Given the description of an element on the screen output the (x, y) to click on. 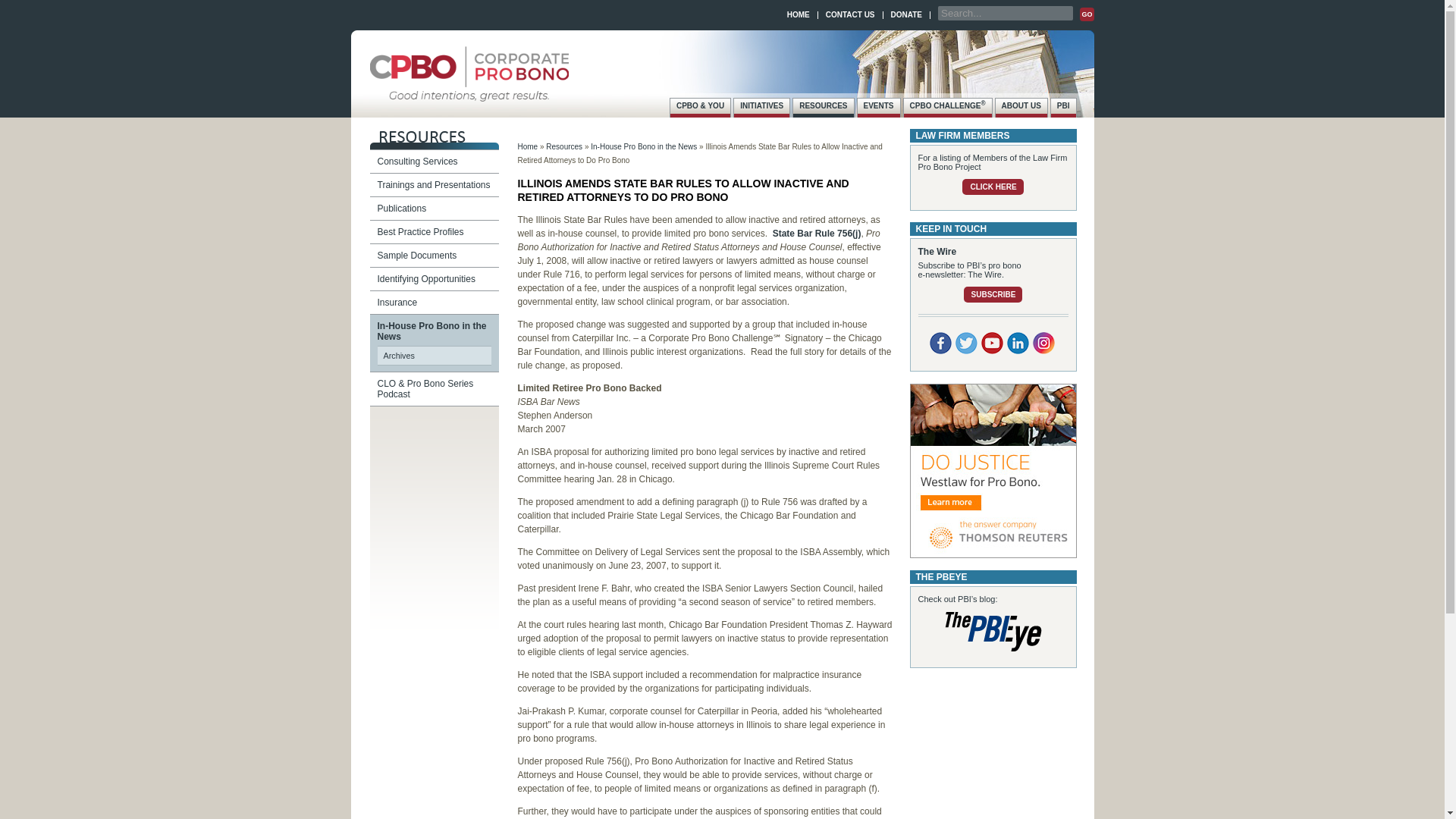
Corporate Pro Bono (469, 93)
LinkedIn (1018, 342)
INITIATIVES (761, 107)
Twitter (965, 342)
Instagram (1043, 342)
HOME (798, 14)
Law Firm Members (992, 186)
Search... (1005, 12)
RESOURCES (823, 107)
Facebook (941, 342)
Go (1086, 14)
YouTube (992, 342)
Go (1086, 14)
CONTACT US (850, 14)
The PBEye (993, 631)
